Given the description of an element on the screen output the (x, y) to click on. 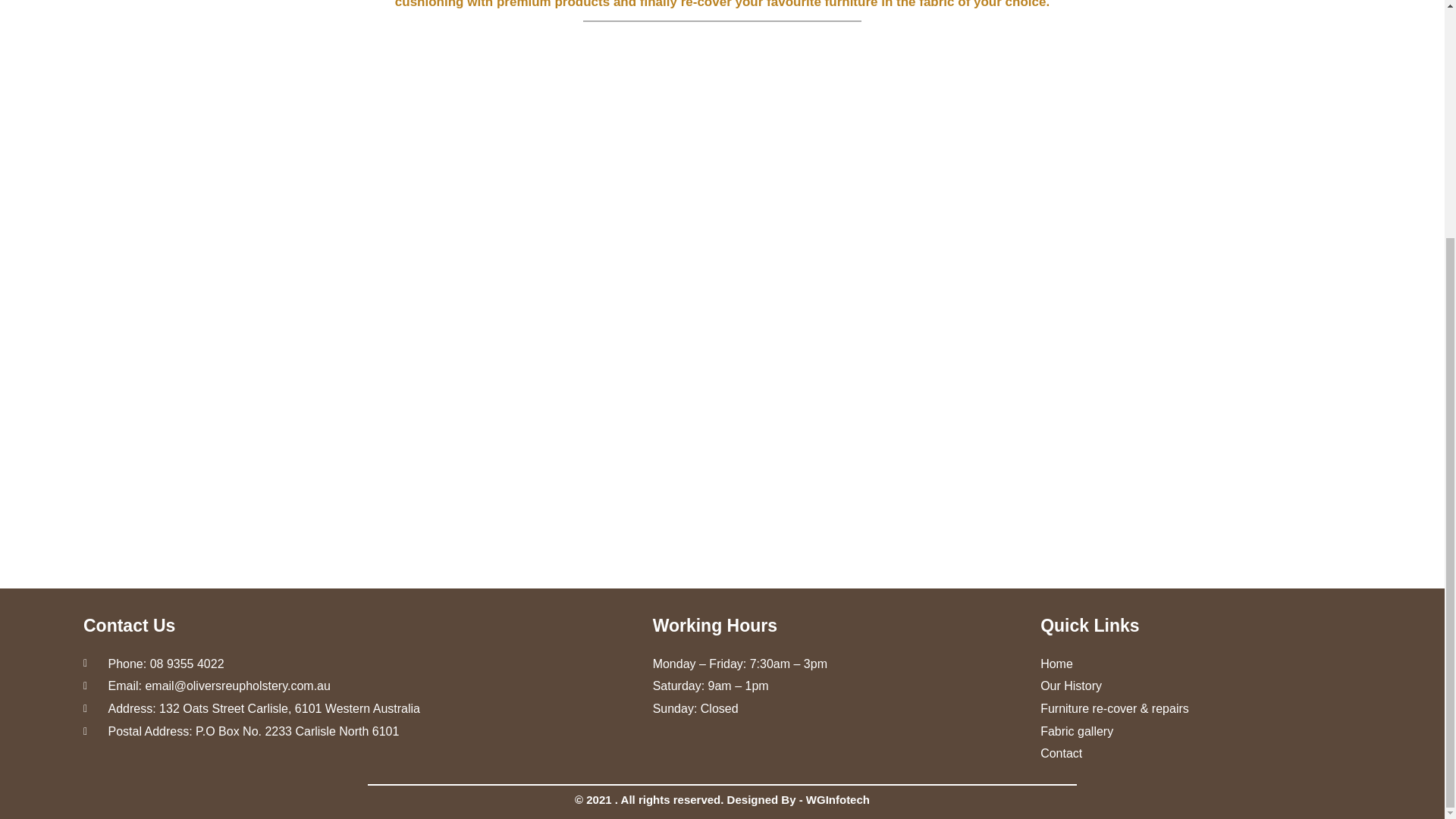
Sunday: Closed (839, 708)
Home (1198, 663)
WGInfotech (837, 799)
Phone: 08 9355 4022 (359, 663)
Contact (1198, 753)
Our History (1198, 685)
Fabric gallery (1198, 731)
